Given the description of an element on the screen output the (x, y) to click on. 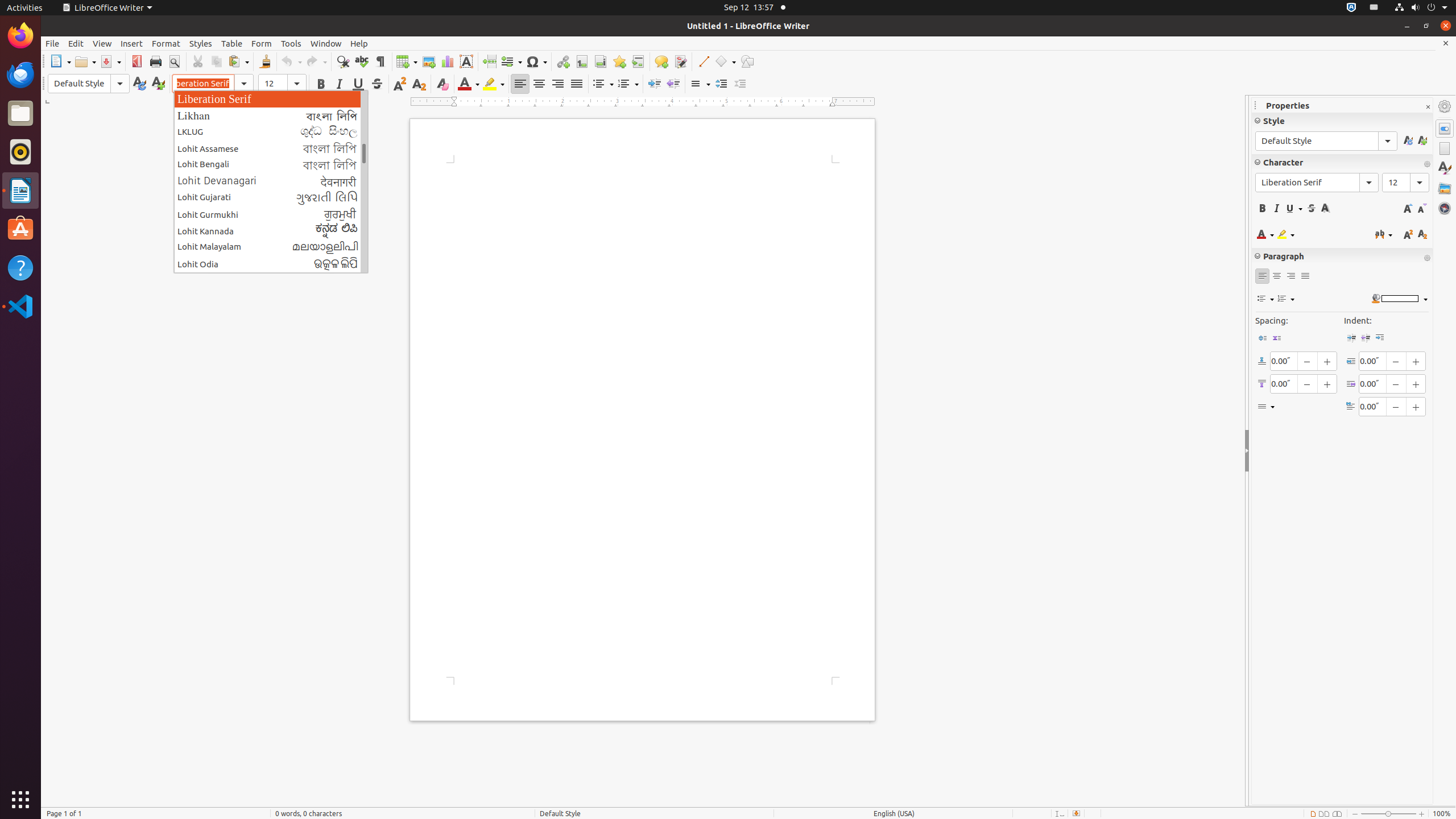
Symbol Element type: push-button (535, 61)
Lohit Devanagari Element type: list-item (270, 180)
Rhythmbox Element type: push-button (20, 151)
Lohit Gujarati Element type: list-item (270, 197)
Ubuntu Software Element type: push-button (20, 229)
